Given the description of an element on the screen output the (x, y) to click on. 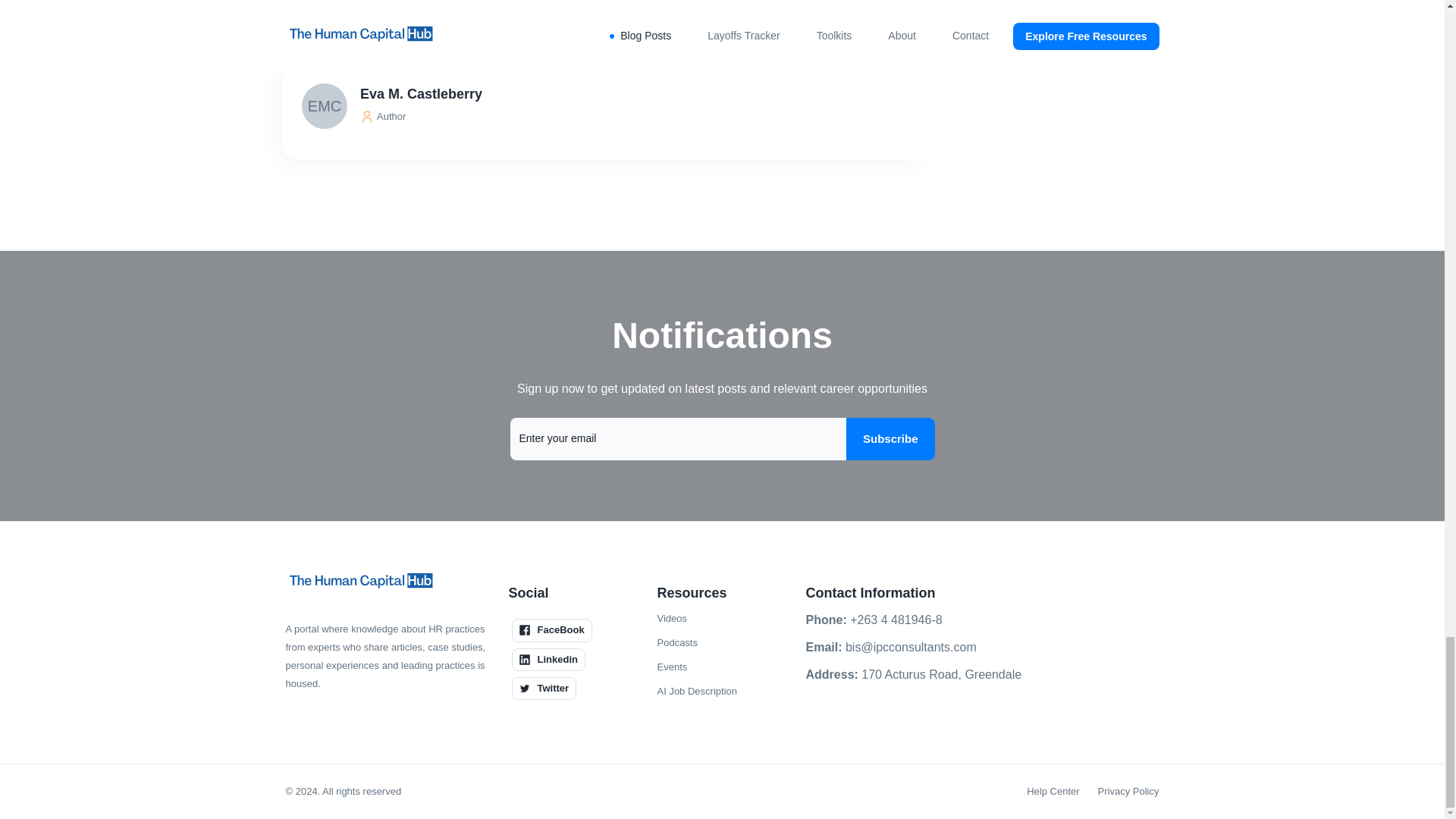
Help Center (1052, 791)
Videos (671, 618)
Eva M. Castleberry (608, 93)
FaceBook (551, 630)
AI Job Description (696, 691)
Linkedin (548, 659)
Podcasts (676, 642)
Subscribe (889, 438)
Events (671, 667)
Twitter (543, 688)
Privacy Policy (1127, 791)
